Given the description of an element on the screen output the (x, y) to click on. 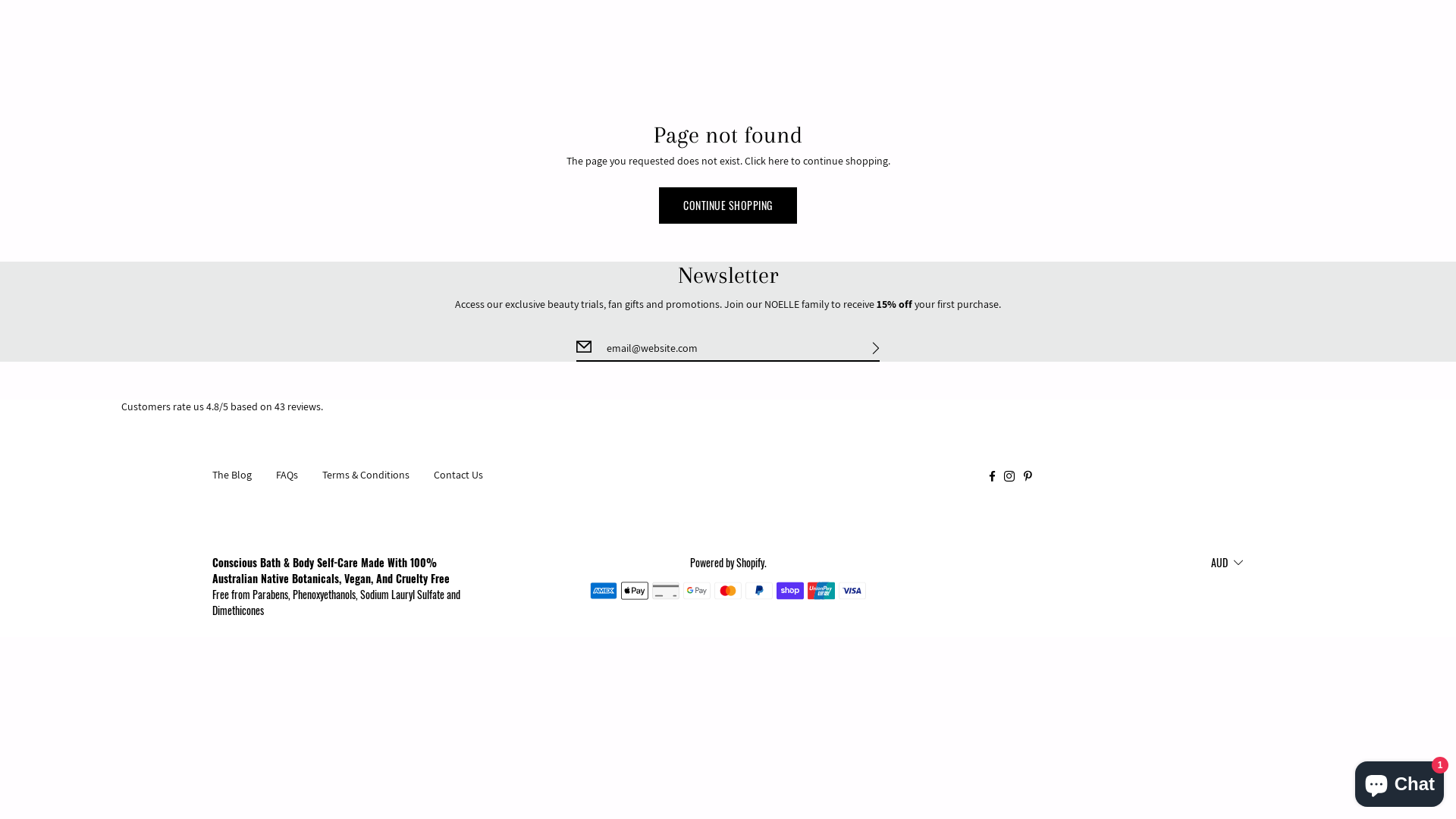
Pinterest Element type: text (1028, 474)
Terms & Conditions Element type: text (365, 474)
Contact Us Element type: text (458, 474)
Customers rate us 4.8/5 based on 43 reviews. Element type: text (727, 406)
The Blog Element type: text (231, 474)
Powered by Shopify Element type: text (727, 562)
FAQs Element type: text (287, 474)
Instagram Element type: text (1009, 474)
CONTINUE SHOPPING Element type: text (727, 204)
Shopify online store chat Element type: hover (1399, 780)
Facebook Element type: text (991, 474)
